Given the description of an element on the screen output the (x, y) to click on. 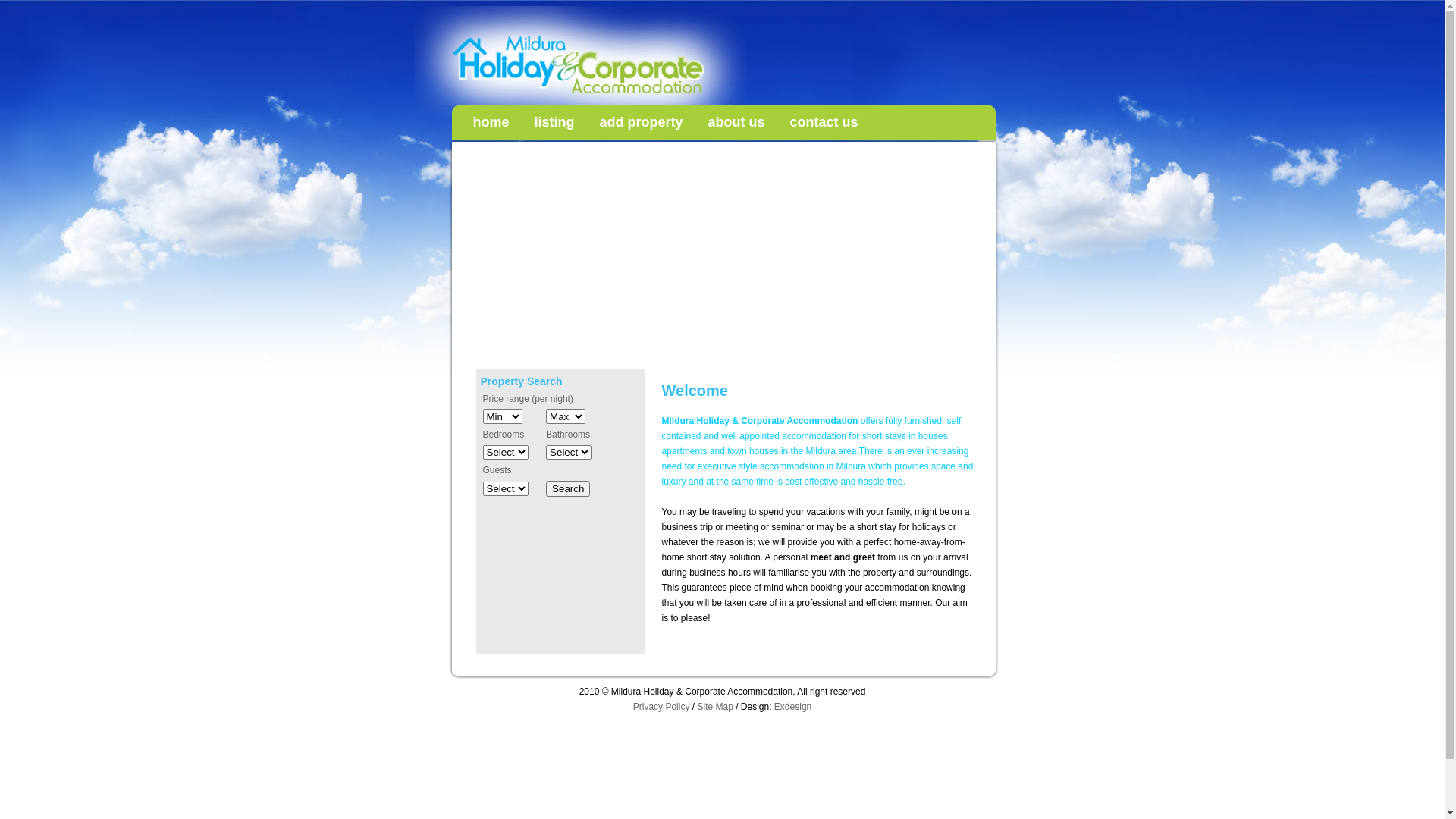
contact us Element type: text (823, 121)
add property Element type: text (641, 121)
about us Element type: text (736, 121)
Privacy Policy Element type: text (661, 706)
Site Map Element type: text (714, 706)
Exdesign Element type: text (792, 706)
Search Element type: text (567, 488)
listing Element type: text (554, 121)
home Element type: text (490, 121)
